Given the description of an element on the screen output the (x, y) to click on. 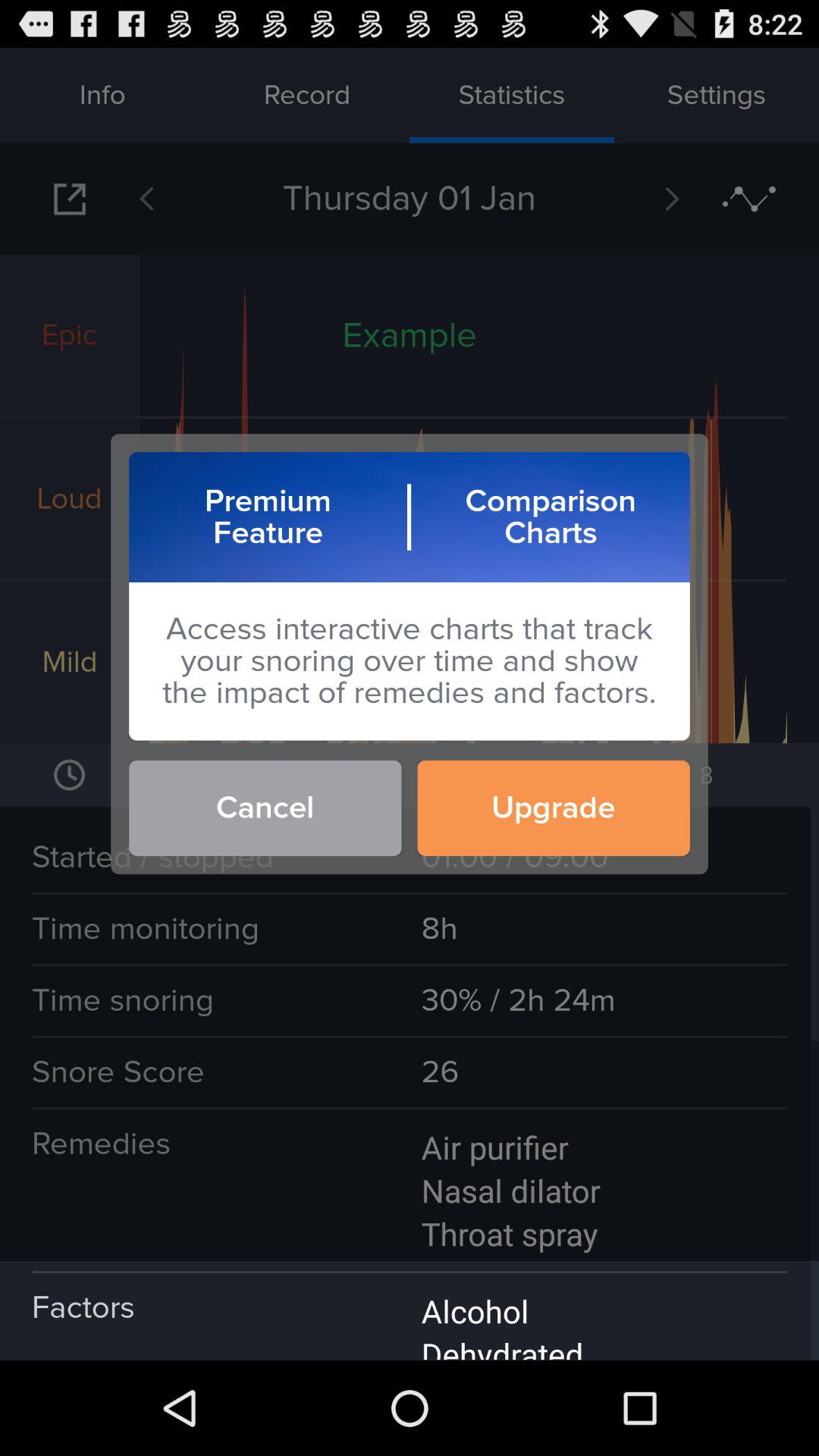
click item below access interactive charts app (553, 807)
